Given the description of an element on the screen output the (x, y) to click on. 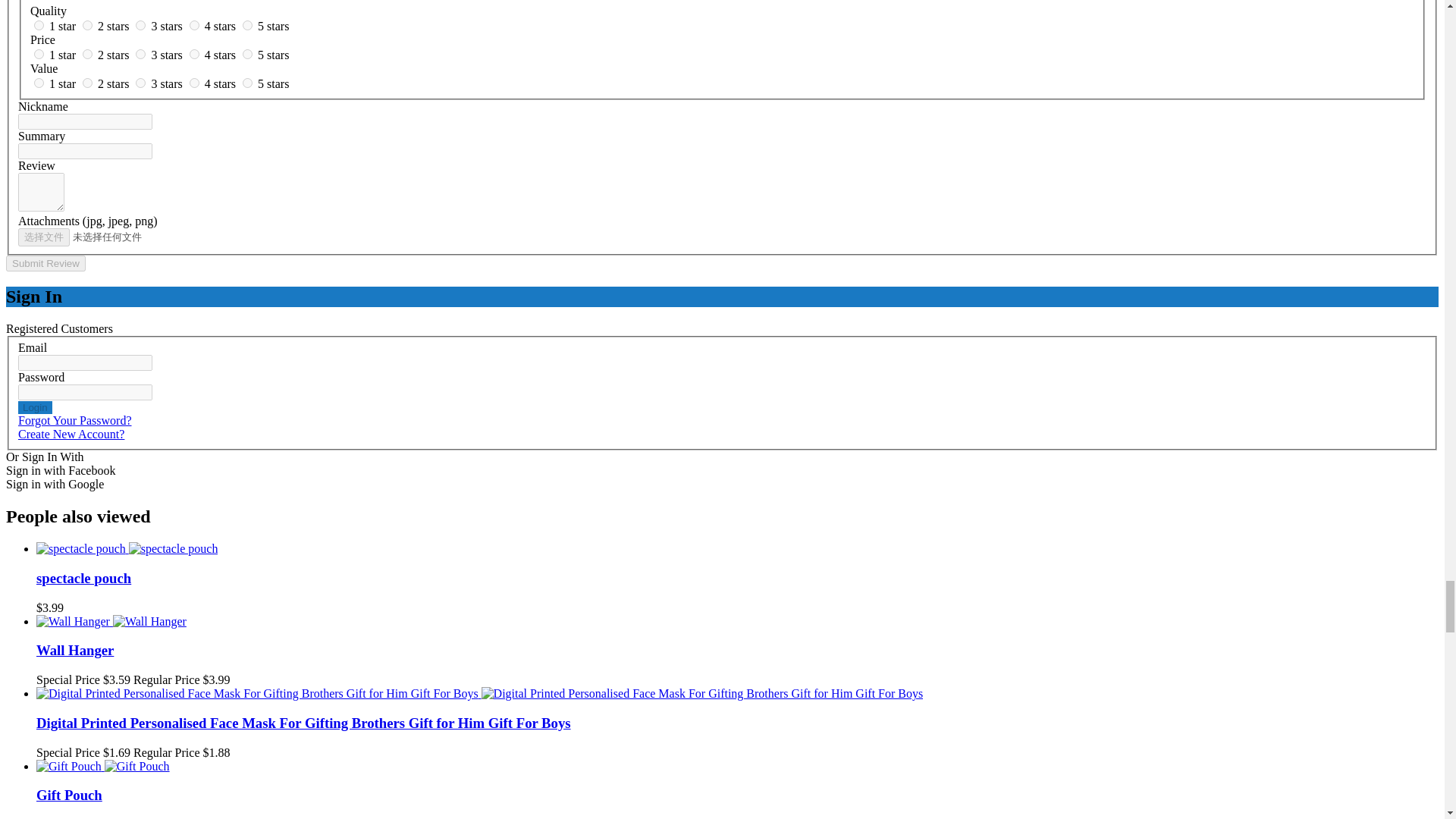
15 (247, 53)
9 (194, 82)
1 star (63, 25)
7 (87, 82)
4 stars (221, 25)
10 (247, 82)
2 (87, 25)
4 (194, 25)
14 (194, 53)
8 (140, 82)
